Given the description of an element on the screen output the (x, y) to click on. 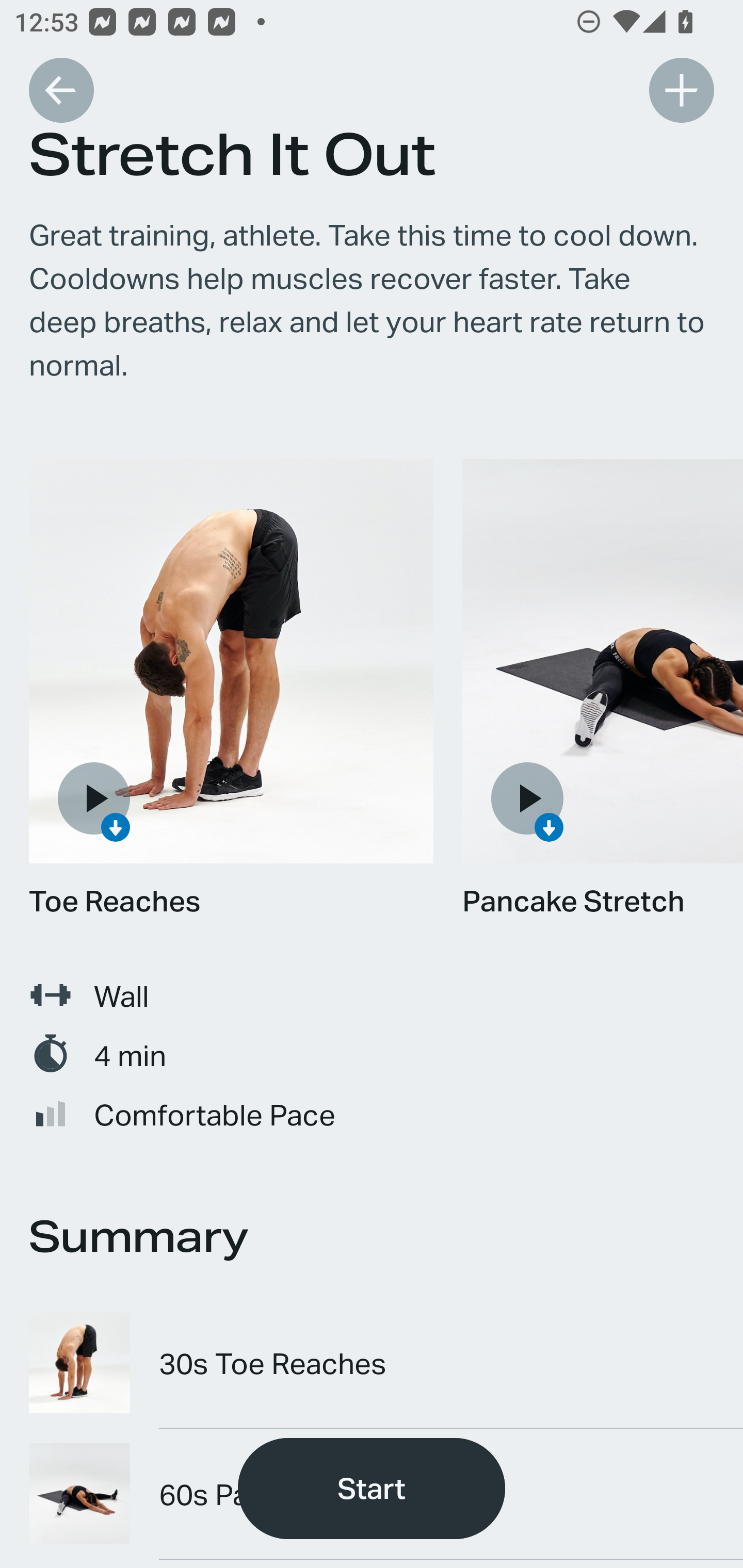
Go back (60, 90)
Log (681, 90)
Start (371, 1488)
